Given the description of an element on the screen output the (x, y) to click on. 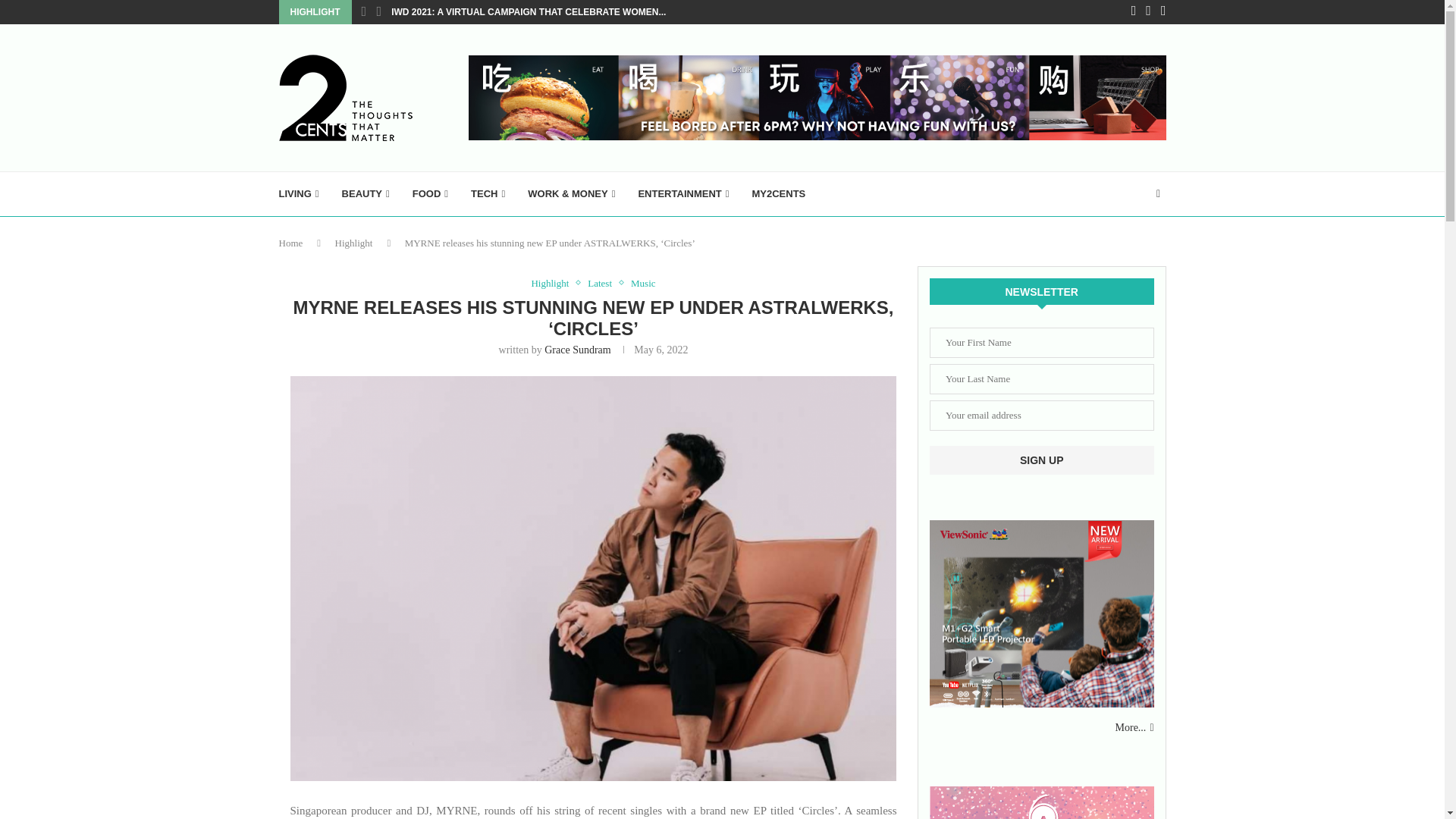
LIVING (298, 193)
IWD 2021: A VIRTUAL CAMPAIGN THAT CELEBRATE WOMEN... (528, 12)
Sign up (1042, 460)
